Given the description of an element on the screen output the (x, y) to click on. 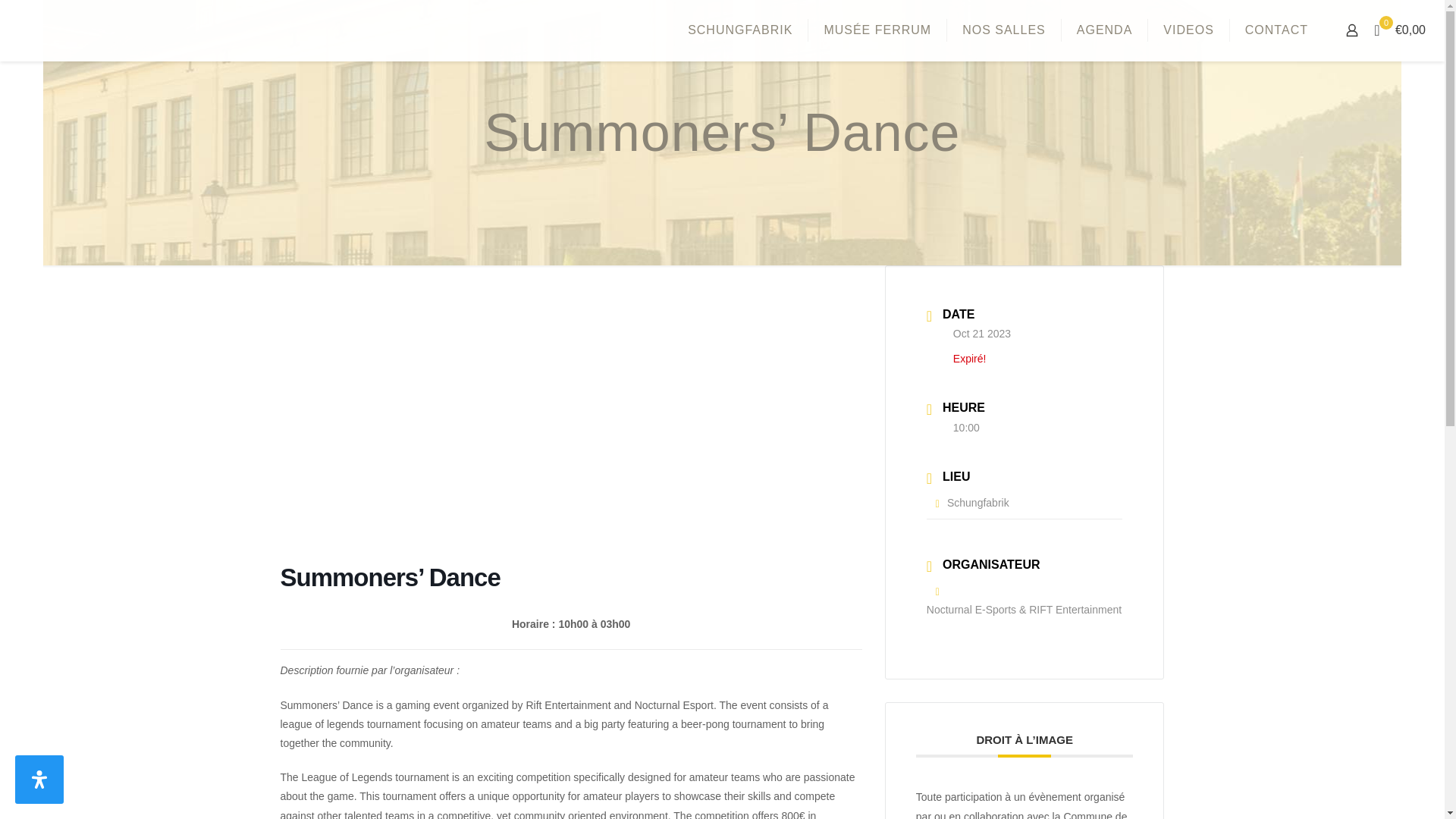
CONTACT (1276, 30)
SCHUNGFABRIK (740, 30)
NOS SALLES (1004, 30)
VIDEOS (1188, 30)
AGENDA (1104, 30)
